Given the description of an element on the screen output the (x, y) to click on. 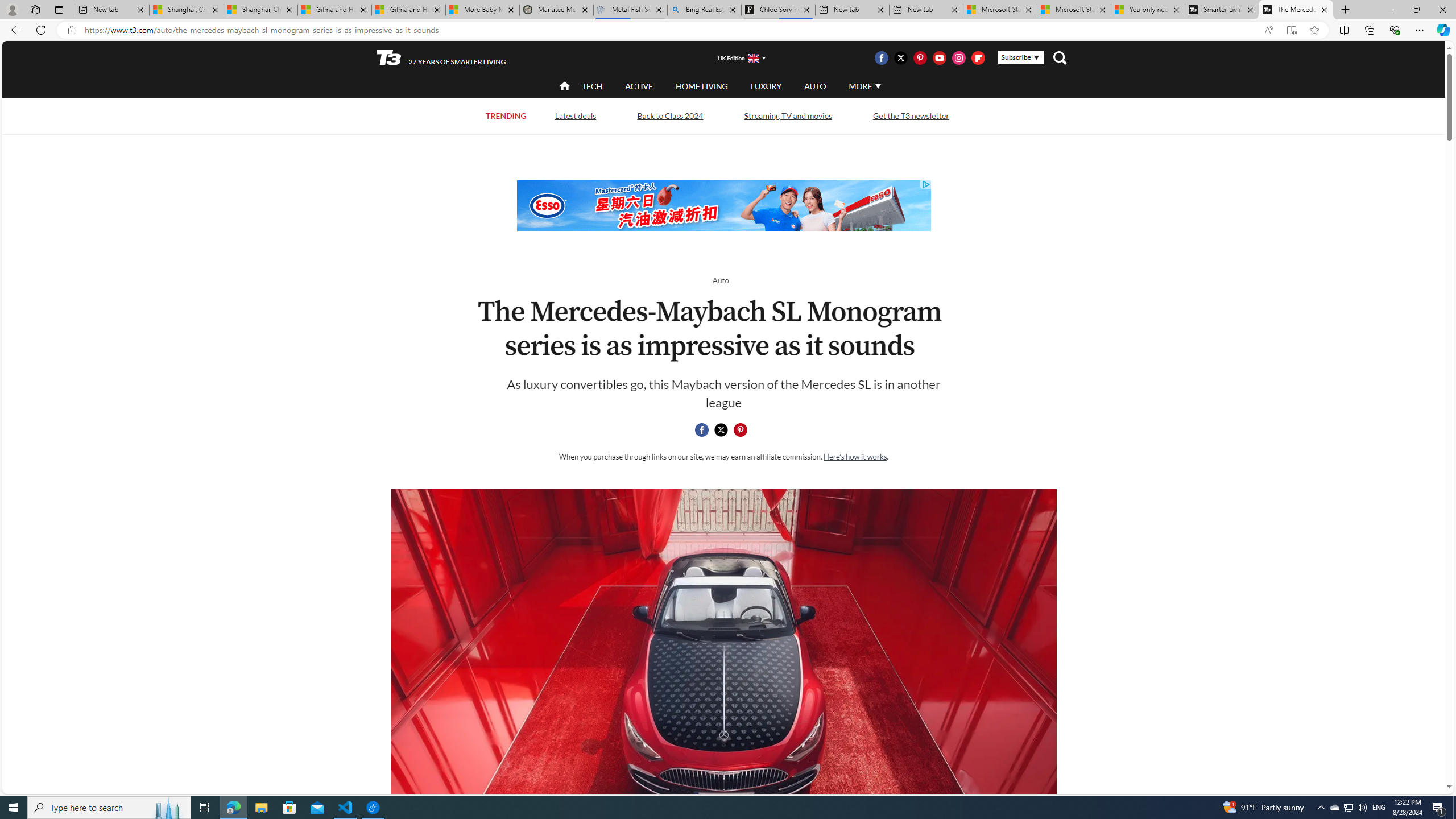
Latest deals (575, 115)
T3 (389, 56)
Visit us on Facebook (880, 57)
Visit us on Twitter (900, 57)
Share this page on Pintrest (739, 430)
Bing Real Estate - Home sales and rental listings (703, 9)
Visit us on Flipboard (978, 57)
AUTO (815, 86)
